Given the description of an element on the screen output the (x, y) to click on. 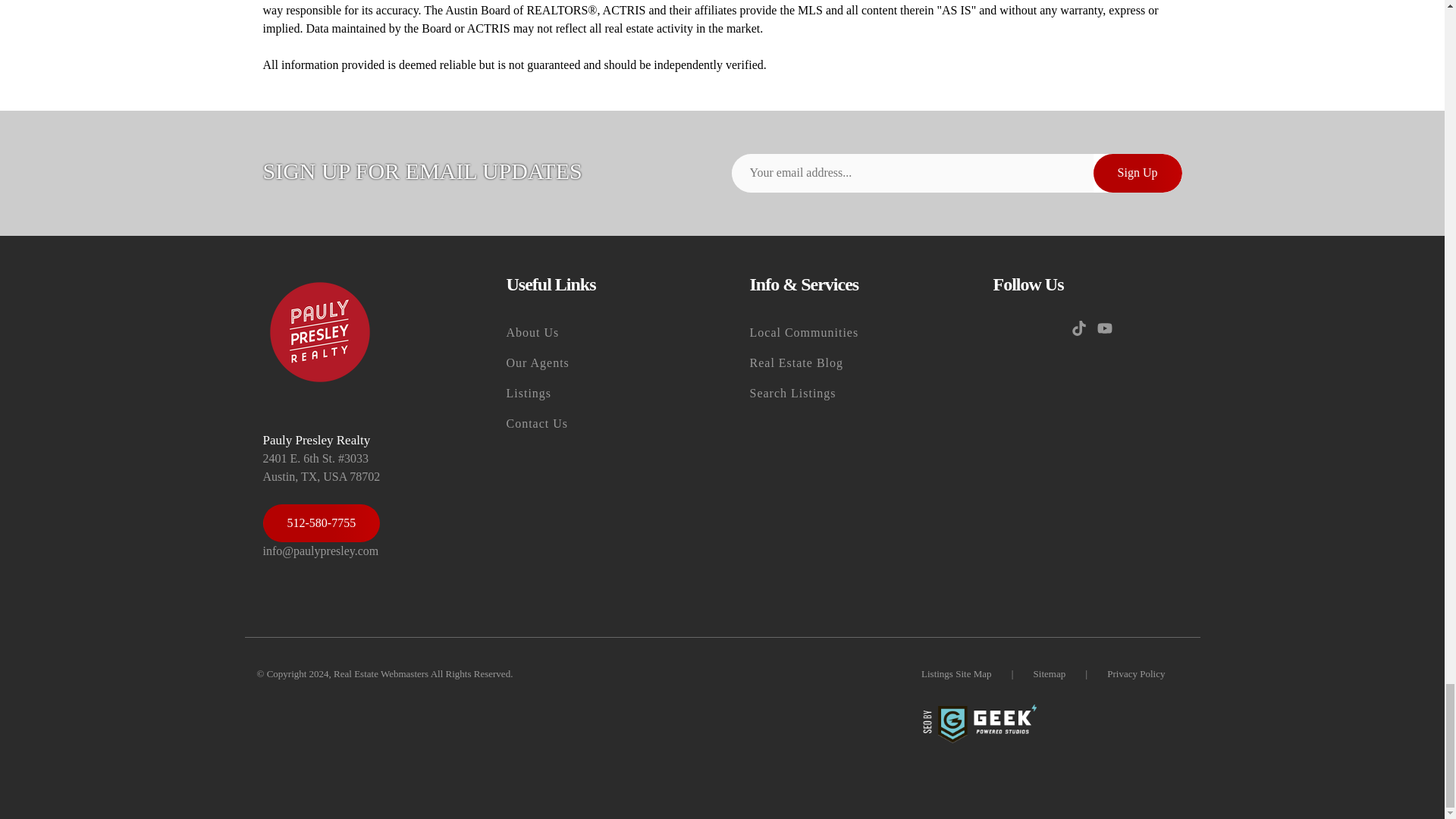
Site Logo (318, 332)
